Given the description of an element on the screen output the (x, y) to click on. 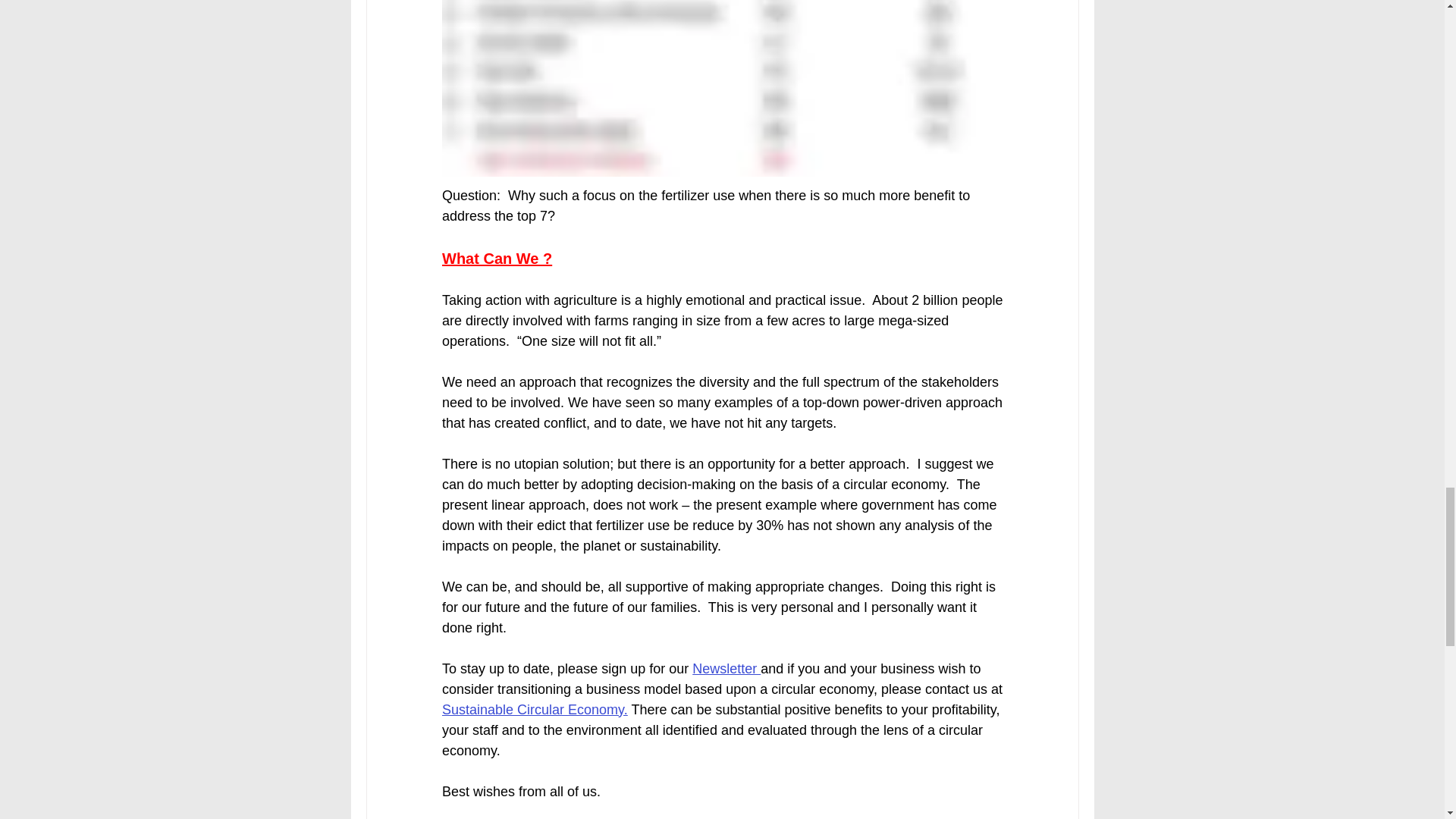
Sustainable Circular Economy. (534, 709)
Newsletter  (726, 668)
